Given the description of an element on the screen output the (x, y) to click on. 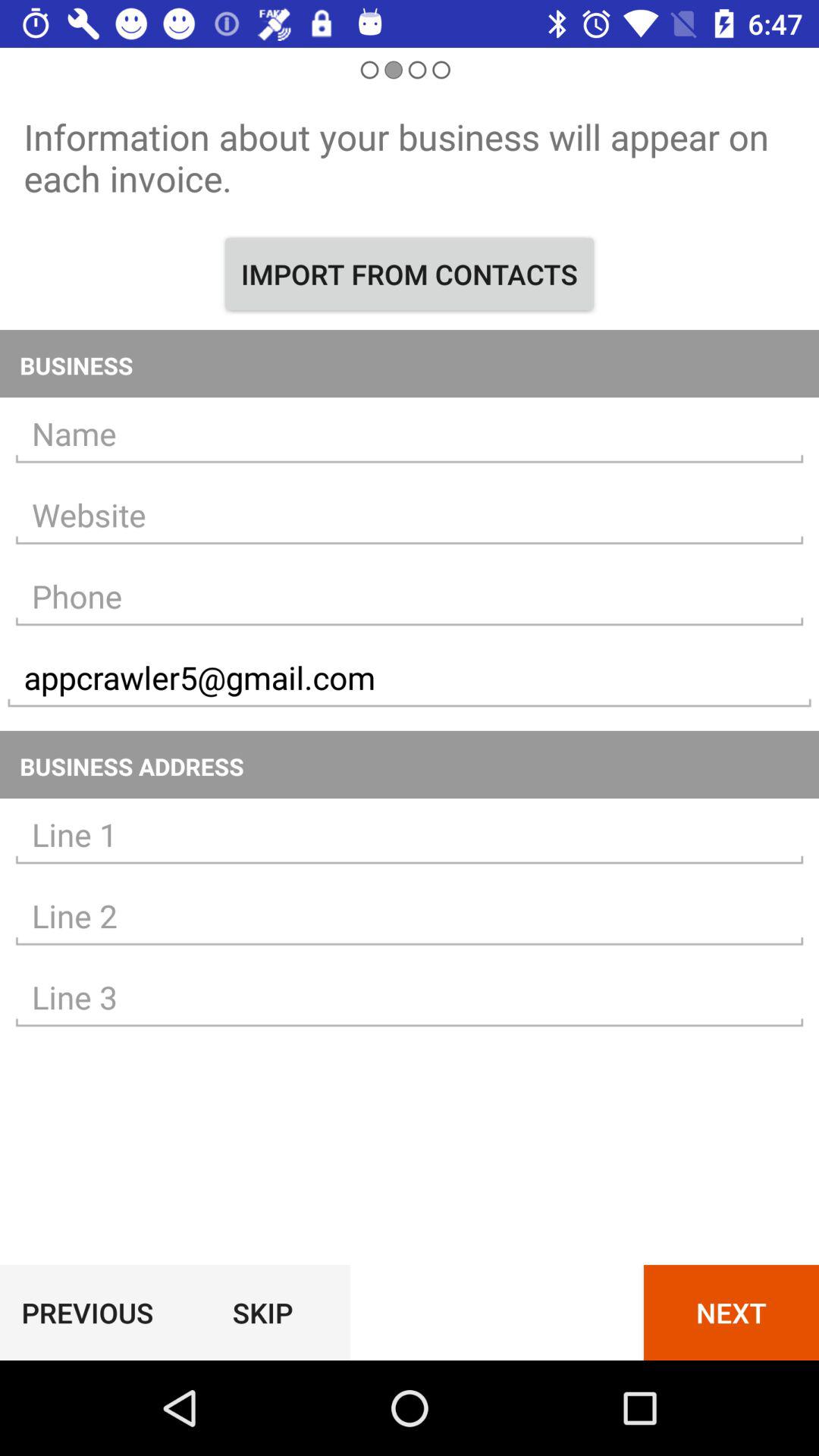
enter typed number (409, 596)
